Given the description of an element on the screen output the (x, y) to click on. 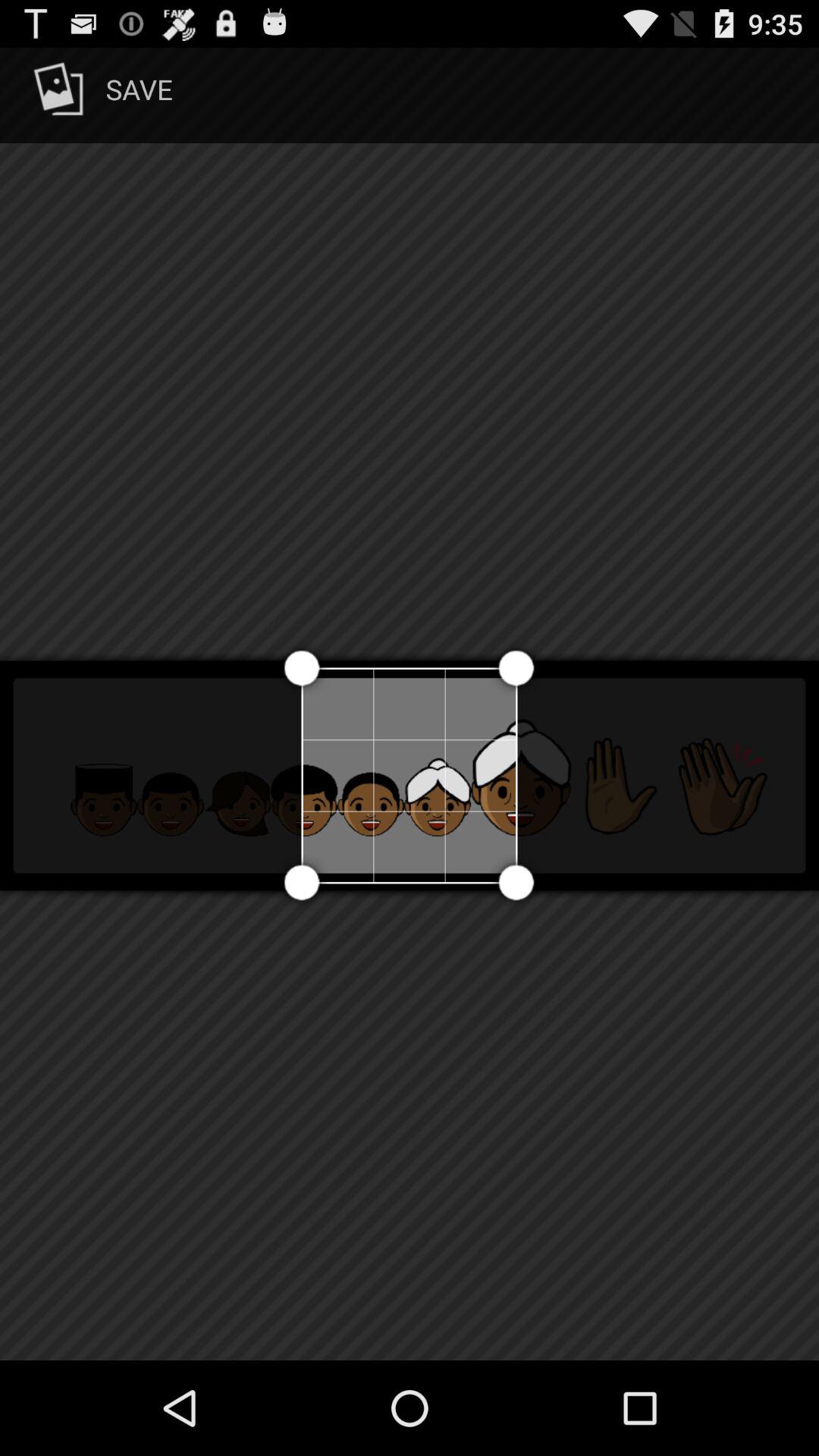
scroll to save item (100, 95)
